Given the description of an element on the screen output the (x, y) to click on. 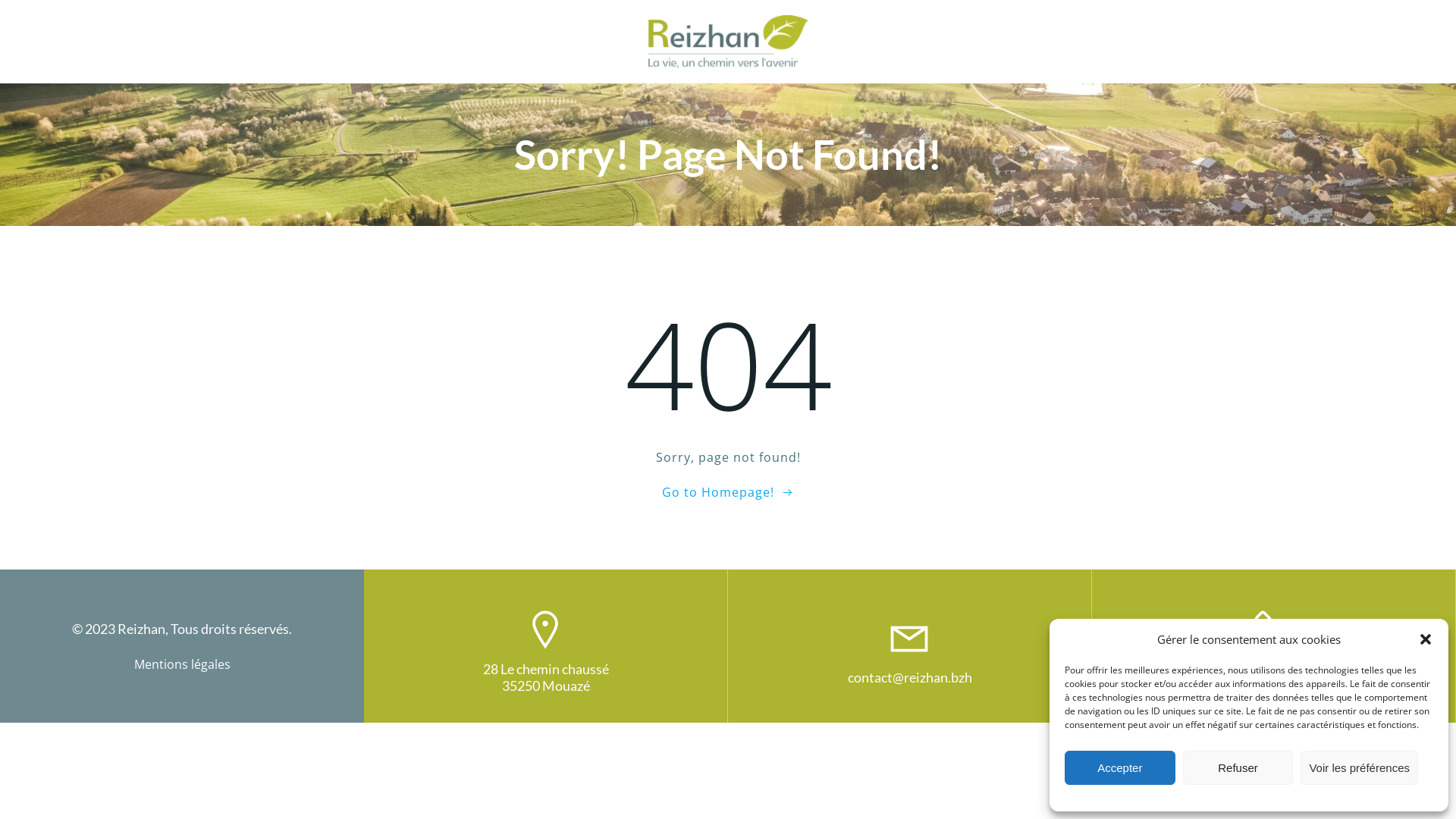
Go to Homepage! Element type: text (727, 491)
Refuser Element type: text (1238, 767)
Accepter Element type: text (1119, 767)
